Given the description of an element on the screen output the (x, y) to click on. 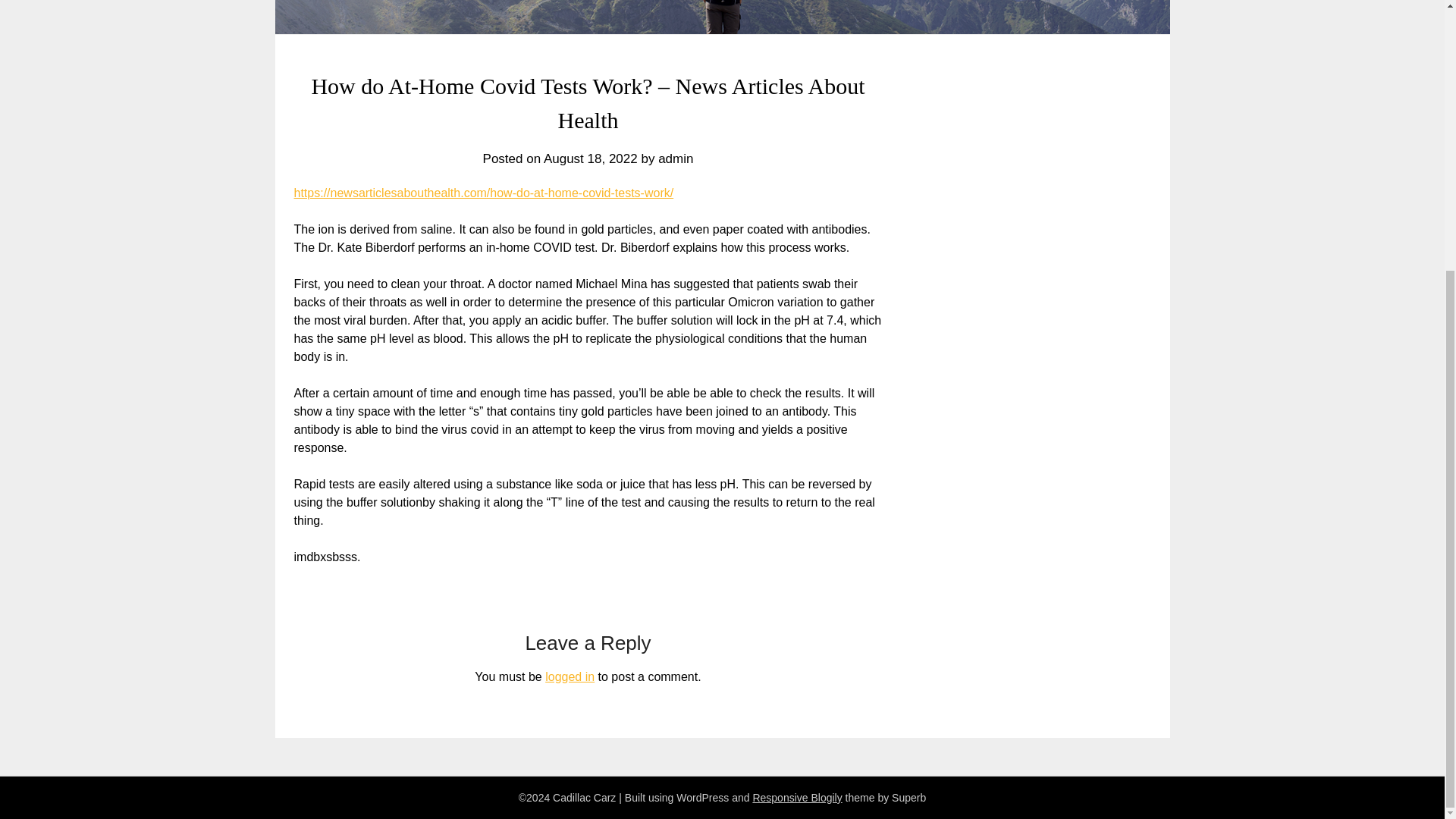
Responsive Blogily (796, 797)
logged in (569, 676)
August 18, 2022 (590, 158)
admin (675, 158)
